Given the description of an element on the screen output the (x, y) to click on. 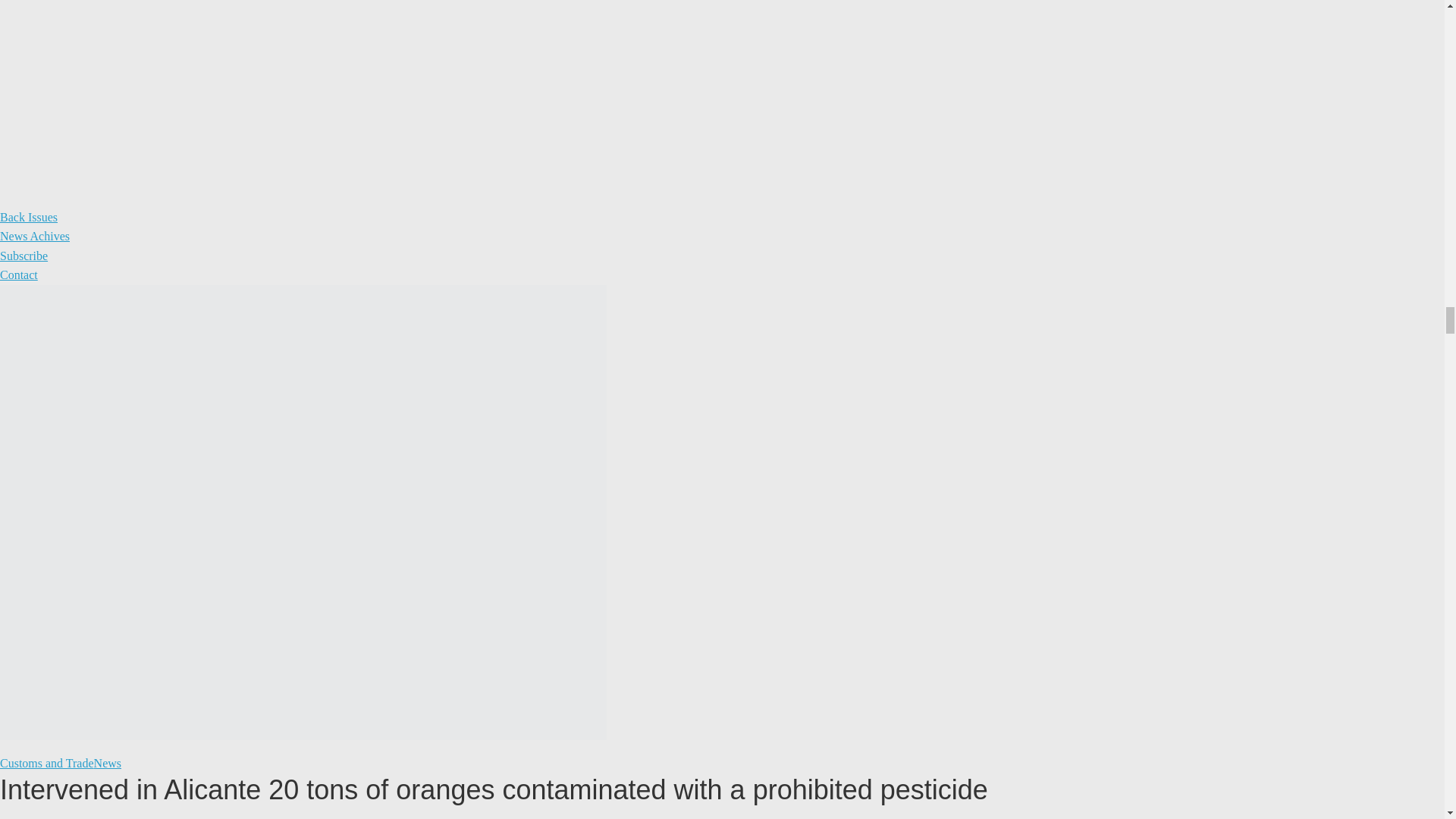
News Achives (34, 236)
News (107, 762)
Back Issues (29, 216)
Contact (18, 274)
Customs and Trade (47, 762)
Subscribe (24, 255)
